Given the description of an element on the screen output the (x, y) to click on. 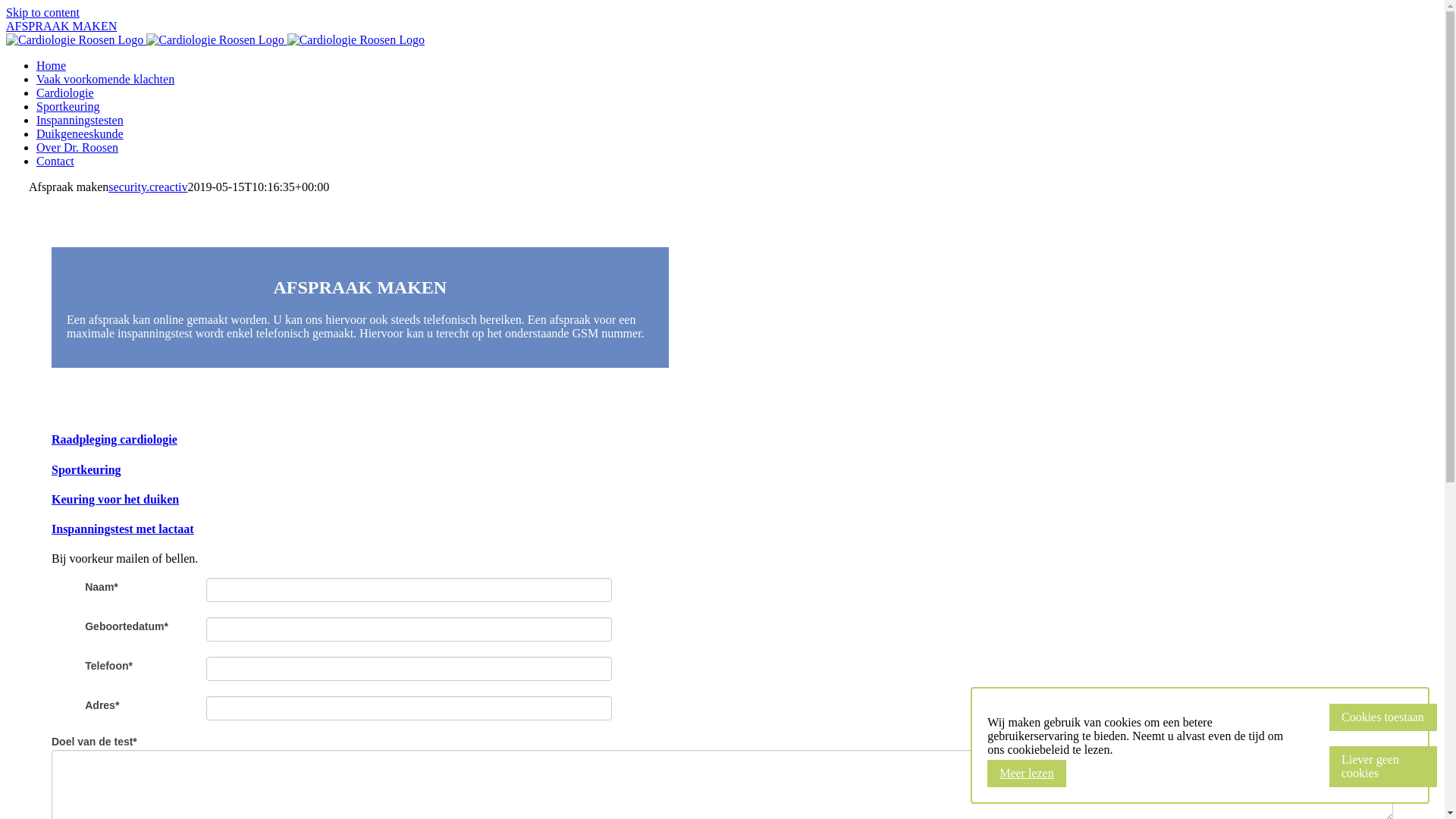
Vaak voorkomende klachten Element type: text (105, 78)
Raadpleging cardiologie Element type: text (722, 439)
Contact Element type: text (55, 160)
AFSPRAAK MAKEN Element type: text (61, 25)
Inspanningstest met lactaat Element type: text (722, 529)
Cardiologie Element type: text (65, 92)
security.creactiv Element type: text (147, 186)
Meer lezen Element type: text (1026, 773)
Home Element type: text (50, 65)
Inspanningstesten Element type: text (79, 119)
Keuring voor het duiken Element type: text (722, 499)
Skip to content Element type: text (42, 12)
Duikgeneeskunde Element type: text (79, 133)
Sportkeuring Element type: text (68, 106)
Sportkeuring Element type: text (722, 469)
Over Dr. Roosen Element type: text (77, 147)
